Given the description of an element on the screen output the (x, y) to click on. 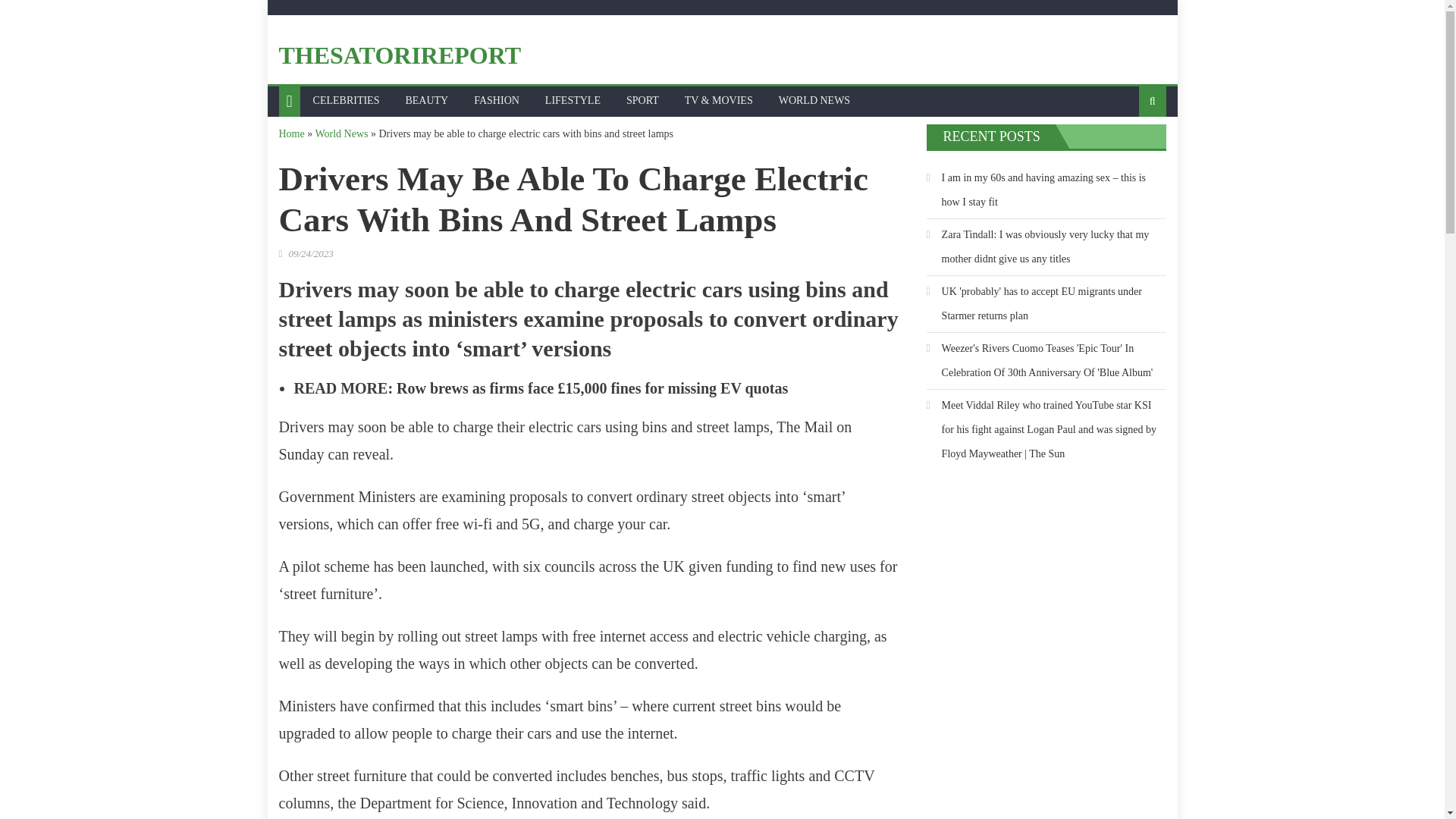
World News (341, 133)
SPORT (641, 100)
BEAUTY (426, 100)
LIFESTYLE (572, 100)
CELEBRITIES (346, 100)
THESATORIREPORT (400, 54)
Search (1128, 150)
Home (291, 133)
